Given the description of an element on the screen output the (x, y) to click on. 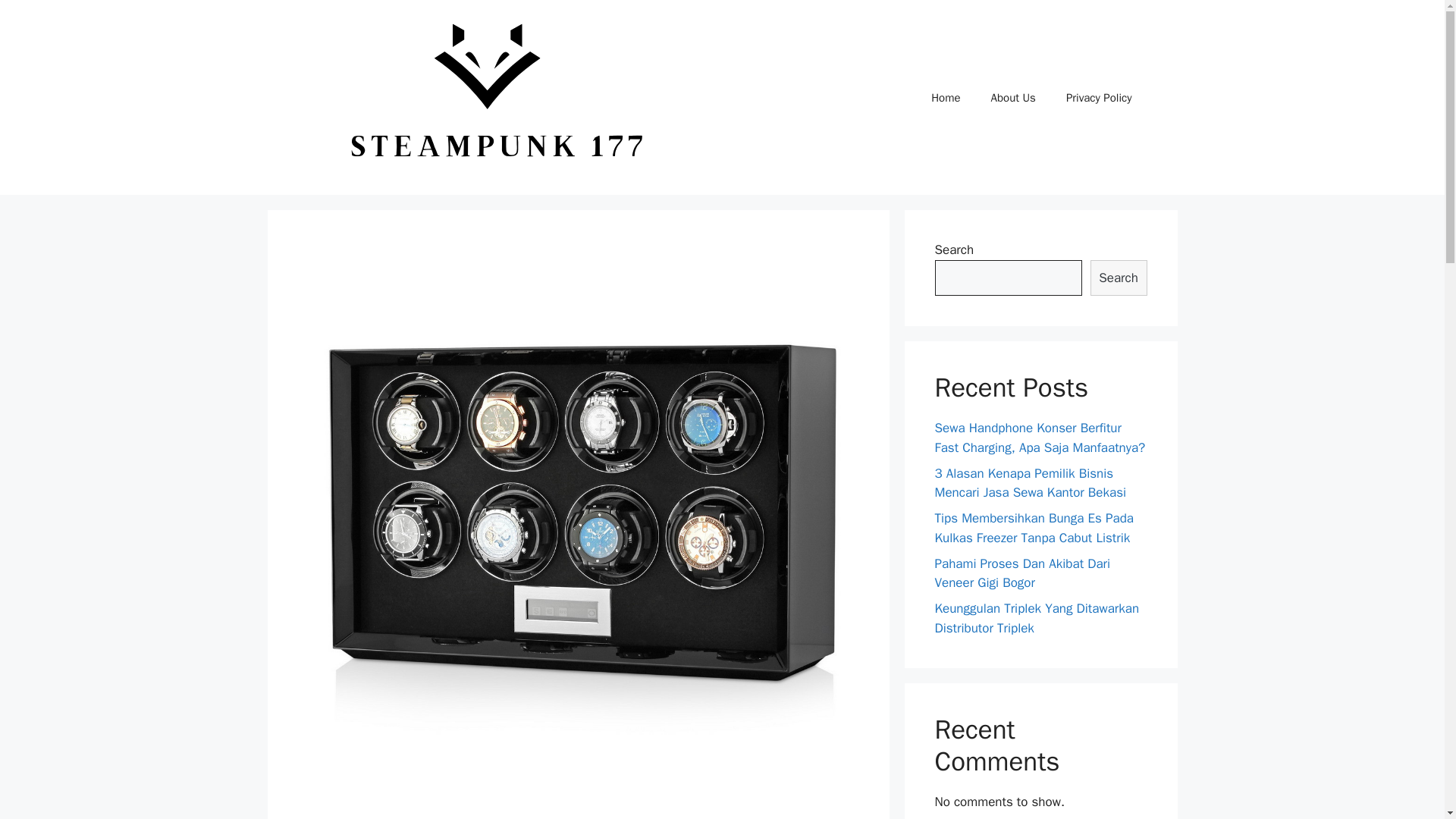
Search (1118, 277)
Steampunk 1577 (487, 97)
Steampunk 1577 (487, 96)
Keunggulan Triplek Yang Ditawarkan Distributor Triplek (1036, 618)
Privacy Policy (1099, 96)
Pahami Proses Dan Akibat Dari Veneer Gigi Bogor (1021, 572)
Home (945, 96)
About Us (1013, 96)
